Given the description of an element on the screen output the (x, y) to click on. 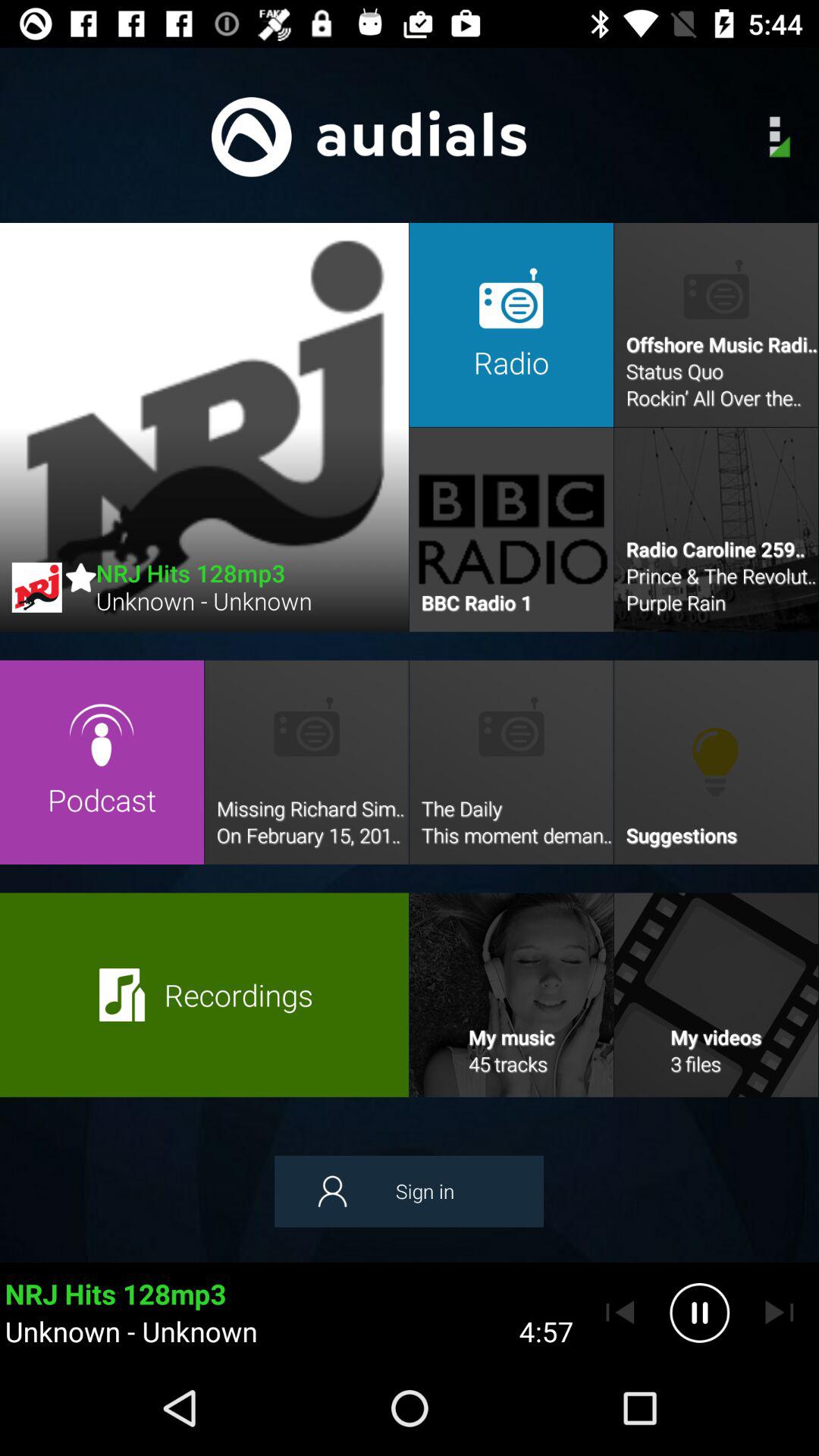
press the item above the unknown - unknown icon (408, 1191)
